Given the description of an element on the screen output the (x, y) to click on. 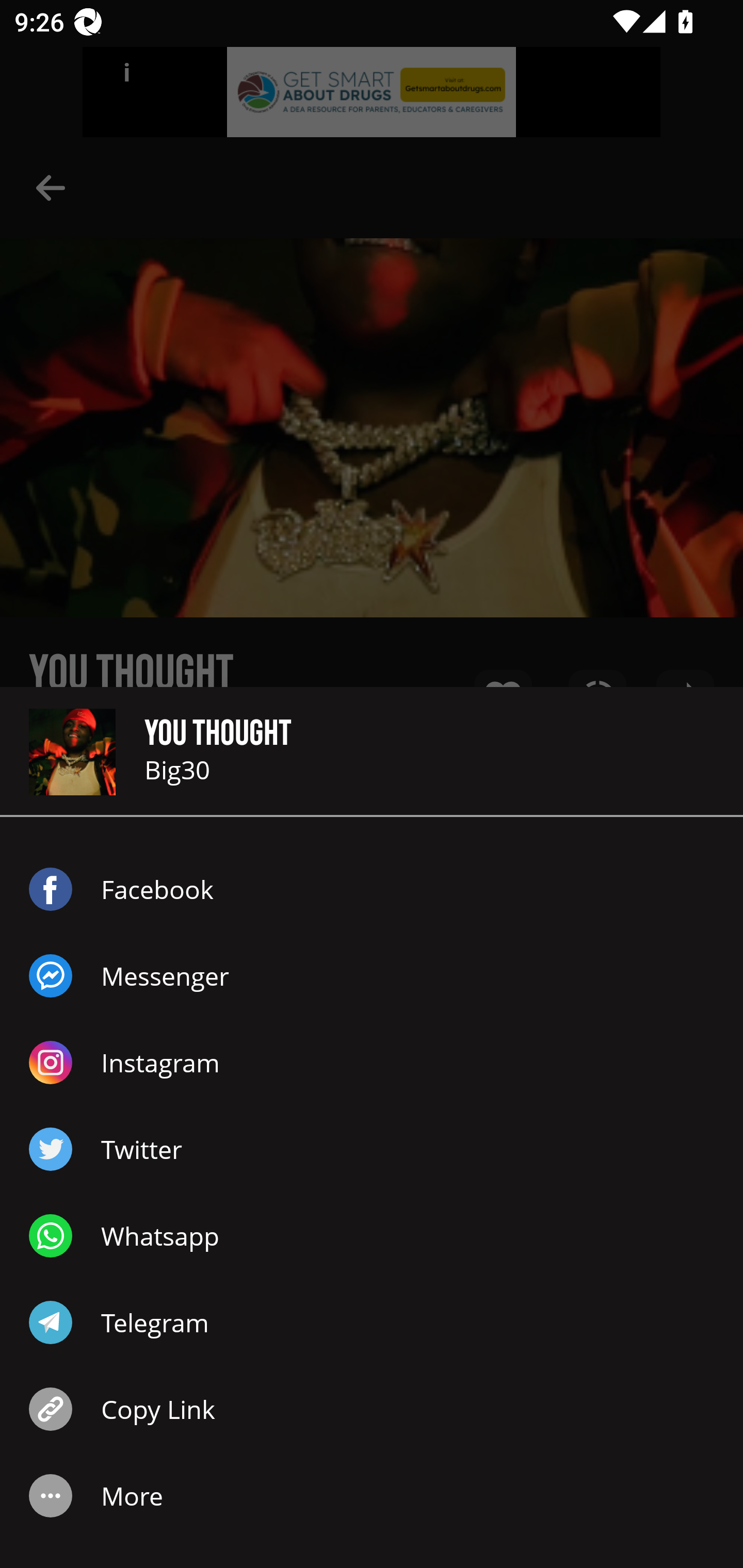
Facebook (371, 888)
Messenger (371, 975)
Instagram (371, 1062)
Twitter (371, 1149)
Whatsapp (371, 1236)
Telegram (371, 1322)
Copy Link (371, 1408)
More (371, 1495)
